Given the description of an element on the screen output the (x, y) to click on. 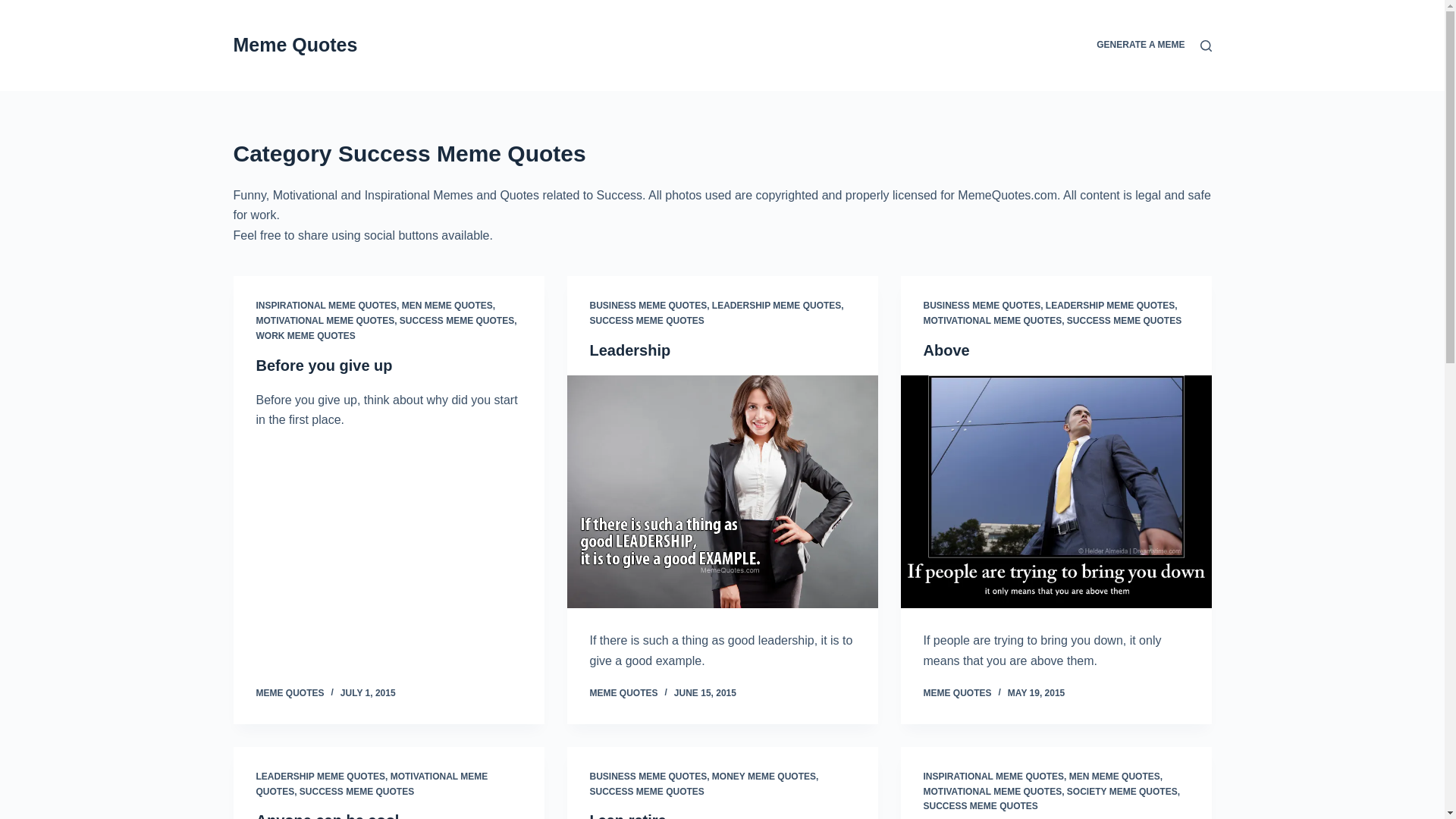
BUSINESS MEME QUOTES (982, 305)
Category Success Meme Quotes (721, 153)
BUSINESS MEME QUOTES (648, 305)
MOTIVATIONAL MEME QUOTES (992, 320)
Posts by Meme Quotes (957, 692)
Meme Quotes (295, 44)
LEADERSHIP MEME QUOTES (776, 305)
Anyone can be cool (327, 815)
Above (946, 350)
SUCCESS MEME QUOTES (646, 320)
